Given the description of an element on the screen output the (x, y) to click on. 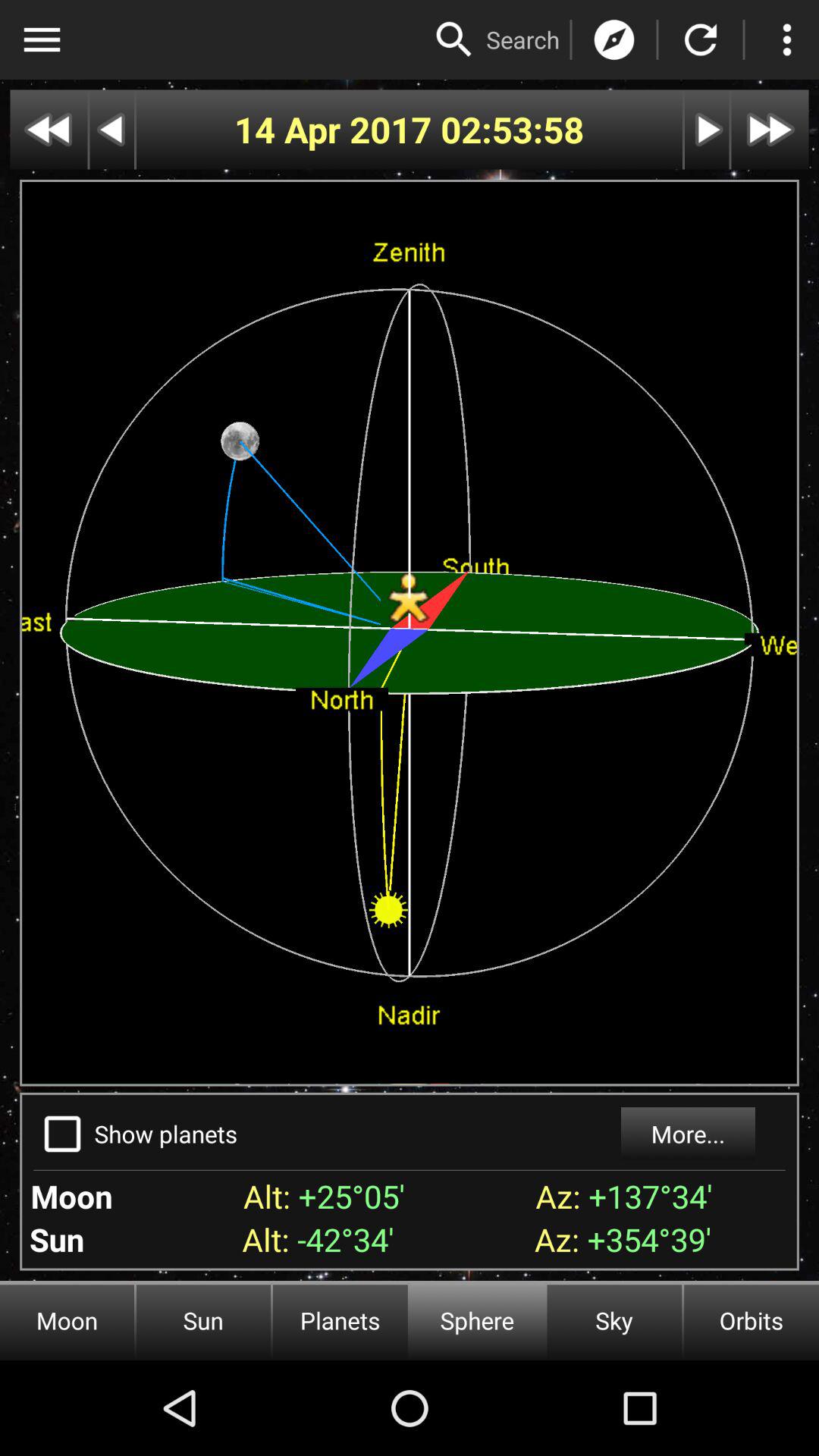
go to previous (111, 129)
